Given the description of an element on the screen output the (x, y) to click on. 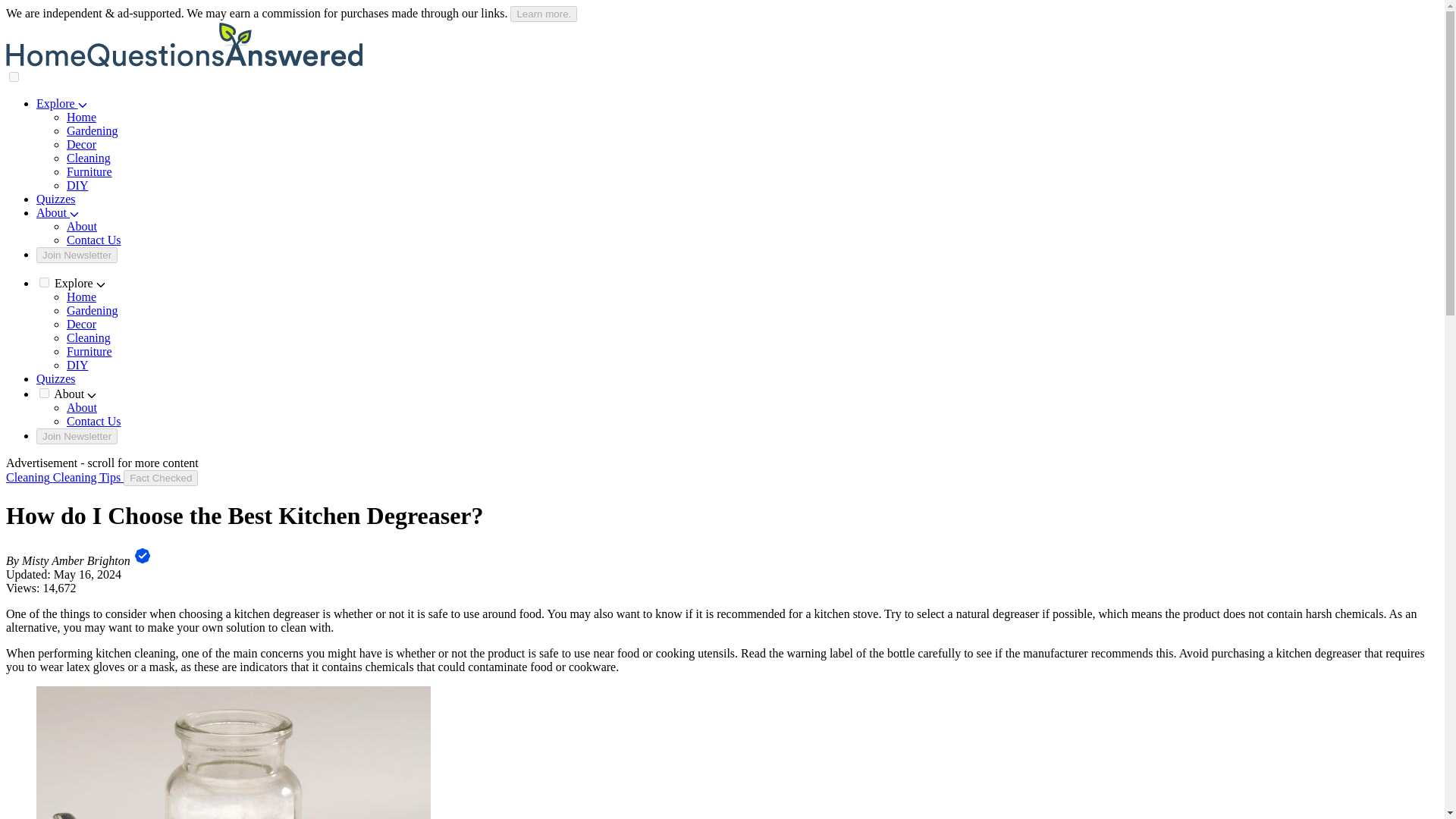
Decor (81, 323)
Quizzes (55, 378)
Join Newsletter (76, 436)
About (81, 226)
on (44, 282)
Fact Checked (160, 478)
Contact Us (93, 420)
About (81, 407)
on (13, 76)
DIY (76, 364)
Furniture (89, 171)
About (57, 212)
Cleaning (88, 157)
DIY (76, 185)
on (44, 393)
